Given the description of an element on the screen output the (x, y) to click on. 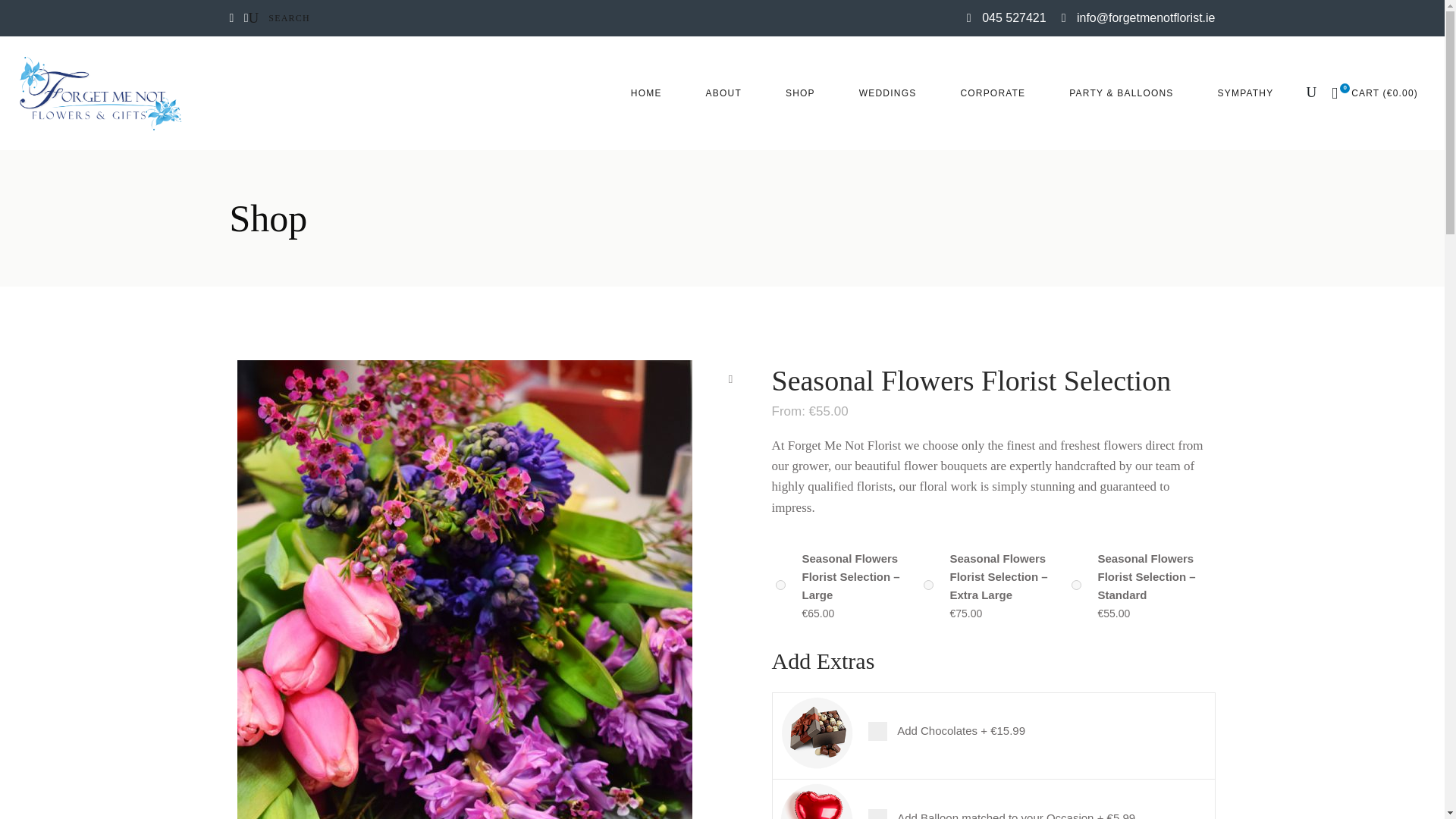
CORPORATE (991, 92)
WEDDINGS (888, 92)
on (928, 584)
on (1075, 584)
045 527421 (1006, 18)
Search for: (305, 17)
on (779, 584)
